Given the description of an element on the screen output the (x, y) to click on. 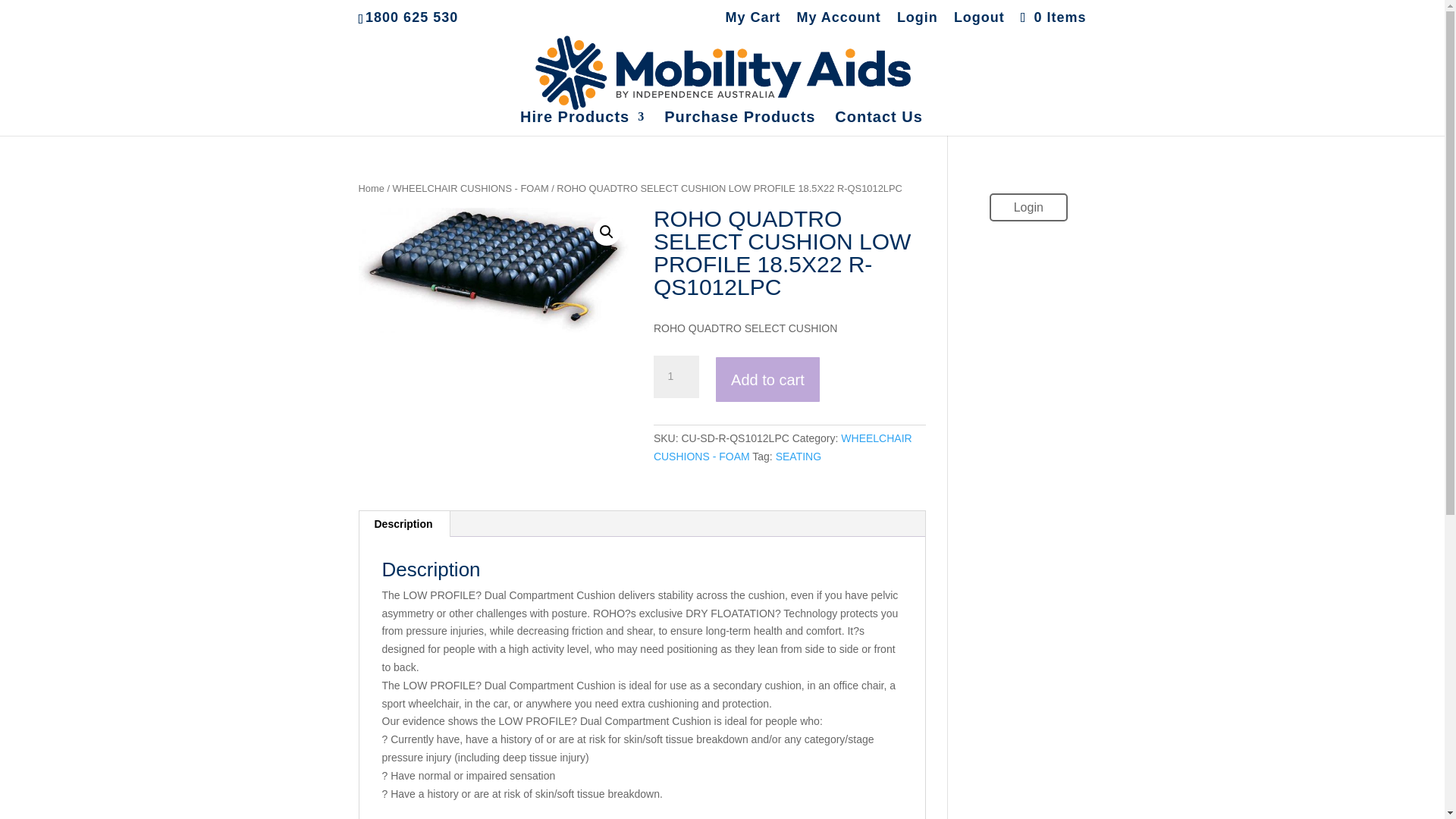
Contact Us (878, 123)
Add to cart (767, 379)
WHEELCHAIR CUSHIONS - FOAM (782, 447)
SEATING (798, 456)
Purchase Products (739, 123)
Description (403, 524)
My Cart (752, 22)
My Account (838, 22)
Logout (978, 22)
WHEELCHAIR CUSHIONS - FOAM (470, 188)
Login (1028, 207)
Home (371, 188)
0 Items (1051, 16)
Login (916, 22)
1 (675, 376)
